Given the description of an element on the screen output the (x, y) to click on. 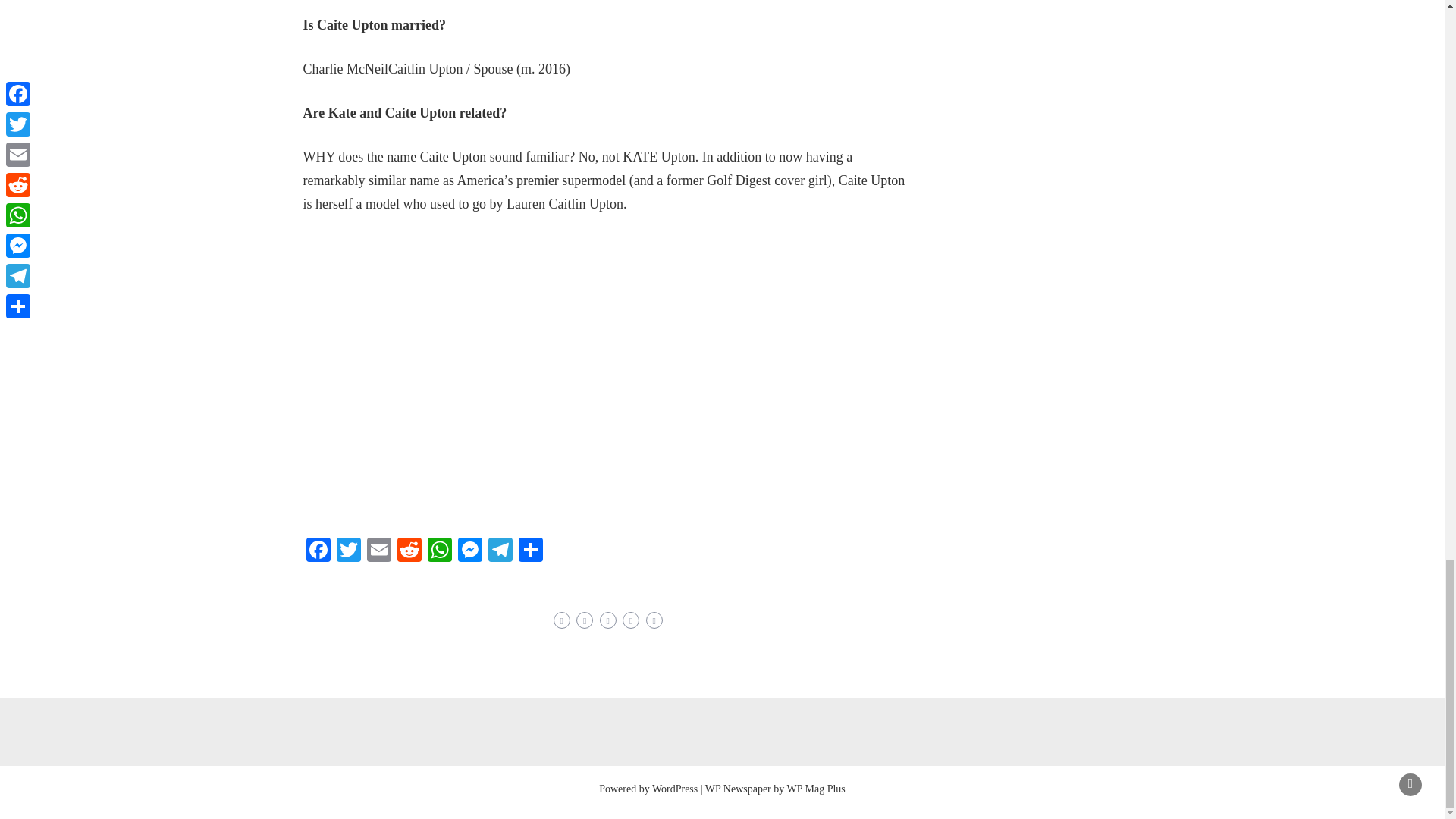
WhatsApp (439, 551)
Twitter (348, 551)
Email (379, 551)
Telegram (499, 551)
Messenger (469, 551)
Facebook (317, 551)
Share (530, 551)
Reddit (409, 551)
Facebook (317, 551)
Messenger (469, 551)
Telegram (499, 551)
Email (379, 551)
WhatsApp (439, 551)
Twitter (348, 551)
Reddit (409, 551)
